Given the description of an element on the screen output the (x, y) to click on. 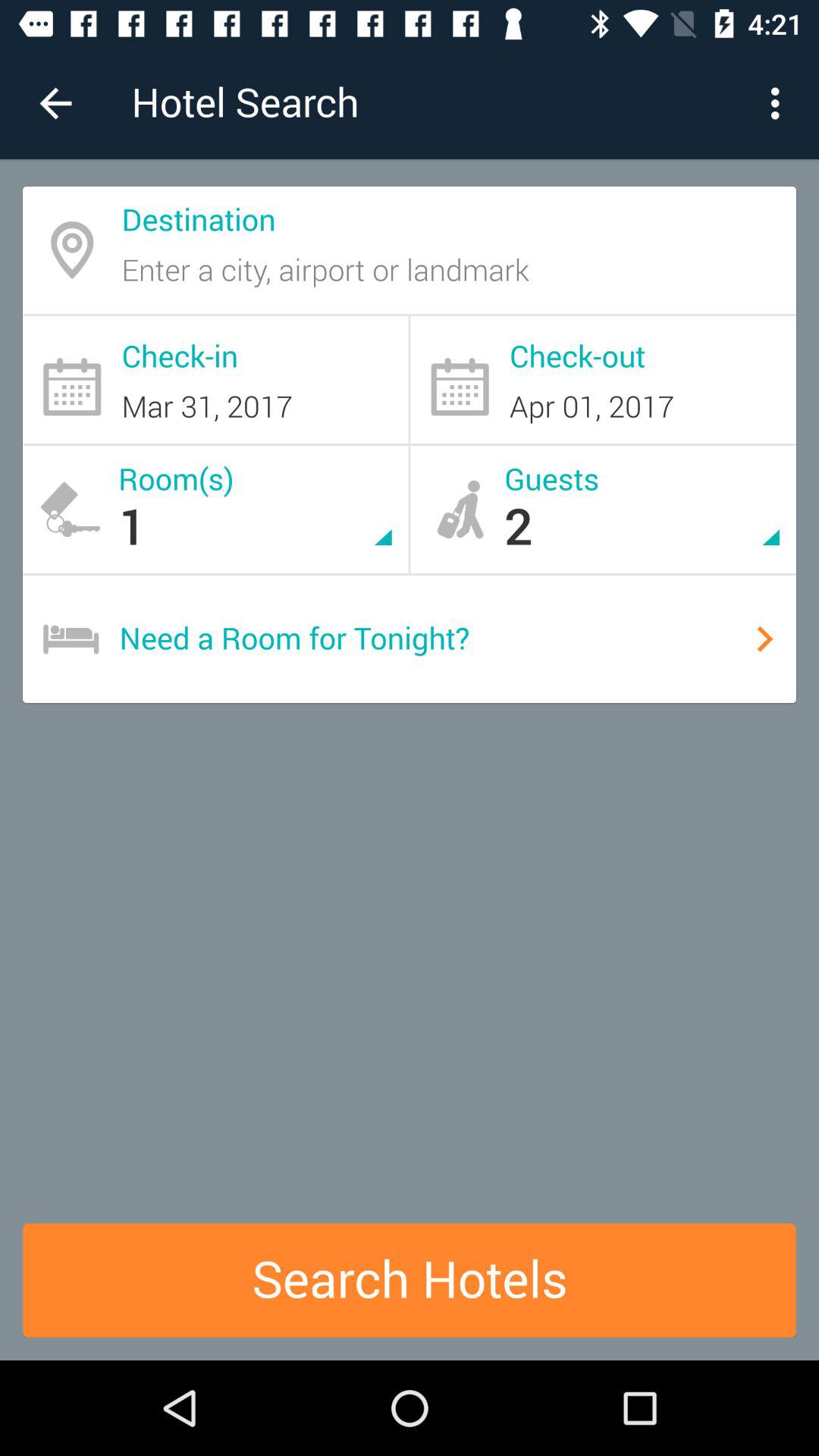
open the item to the right of hotel search icon (779, 103)
